Given the description of an element on the screen output the (x, y) to click on. 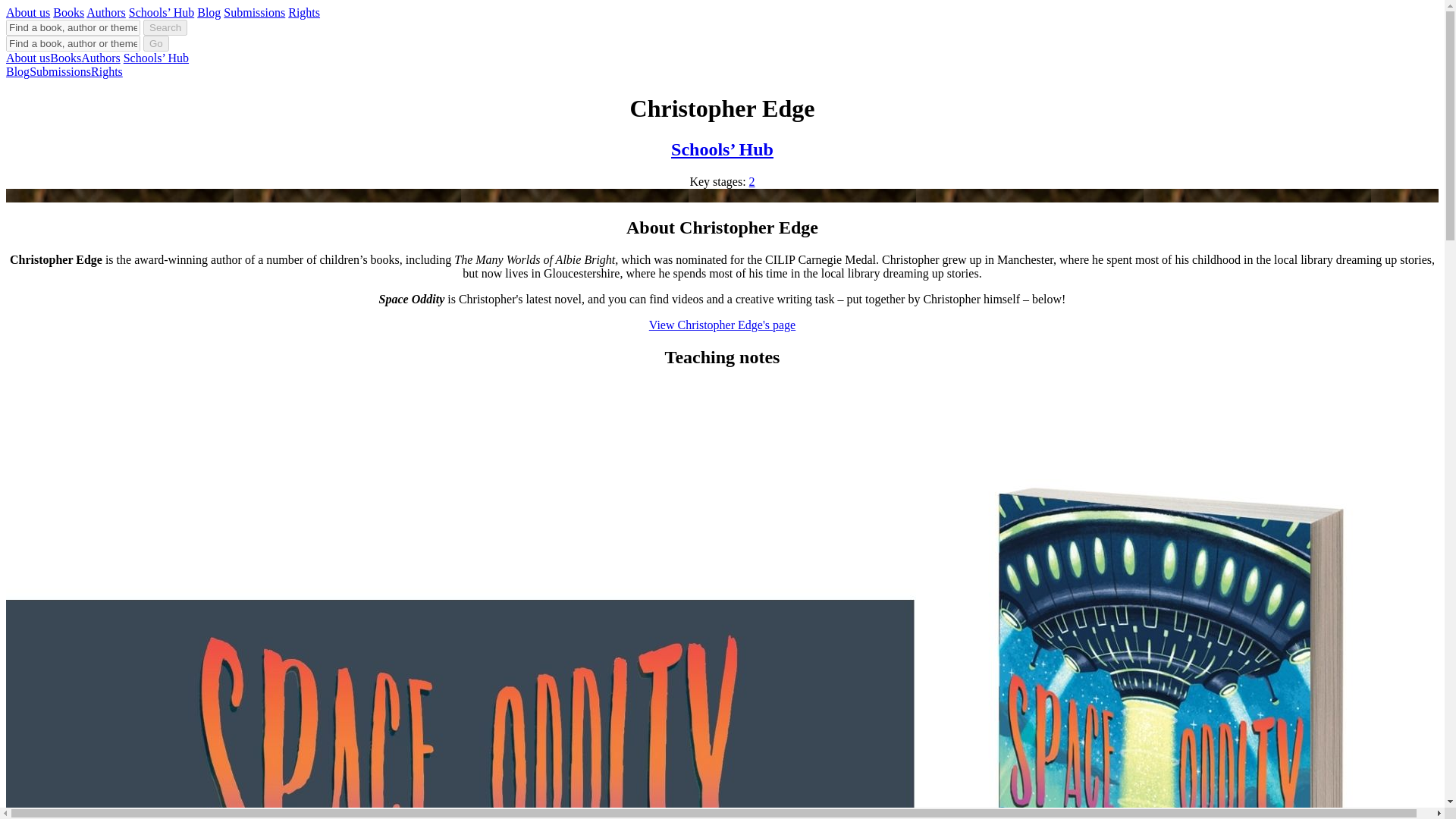
Find a book, author or theme (72, 27)
Find a book, author or theme (72, 43)
Search (164, 27)
Books (68, 11)
Find a book, author or theme (72, 27)
Books (65, 57)
Find a book, author or theme (72, 43)
Rights (304, 11)
Submissions (254, 11)
Go (155, 43)
About us (27, 57)
Blog (17, 71)
Authors (100, 57)
Submissions (59, 71)
Blog (208, 11)
